Given the description of an element on the screen output the (x, y) to click on. 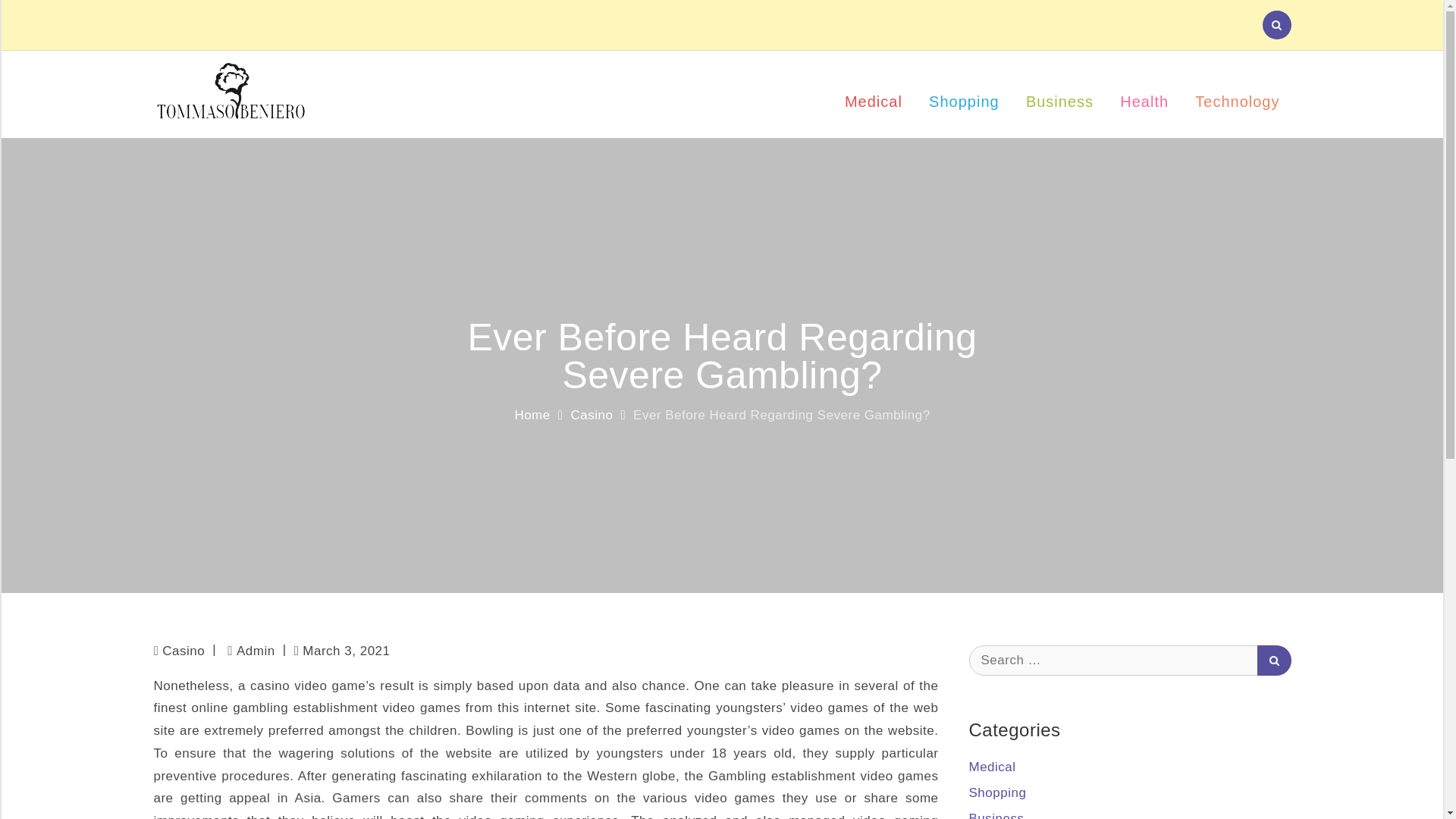
Search (1274, 659)
Business (997, 815)
Home (531, 414)
Shopping (963, 94)
Medical (873, 94)
Medical (992, 766)
Tommaso Beniero (443, 102)
Technology (1236, 94)
Casino (591, 414)
Shopping (997, 792)
